Given the description of an element on the screen output the (x, y) to click on. 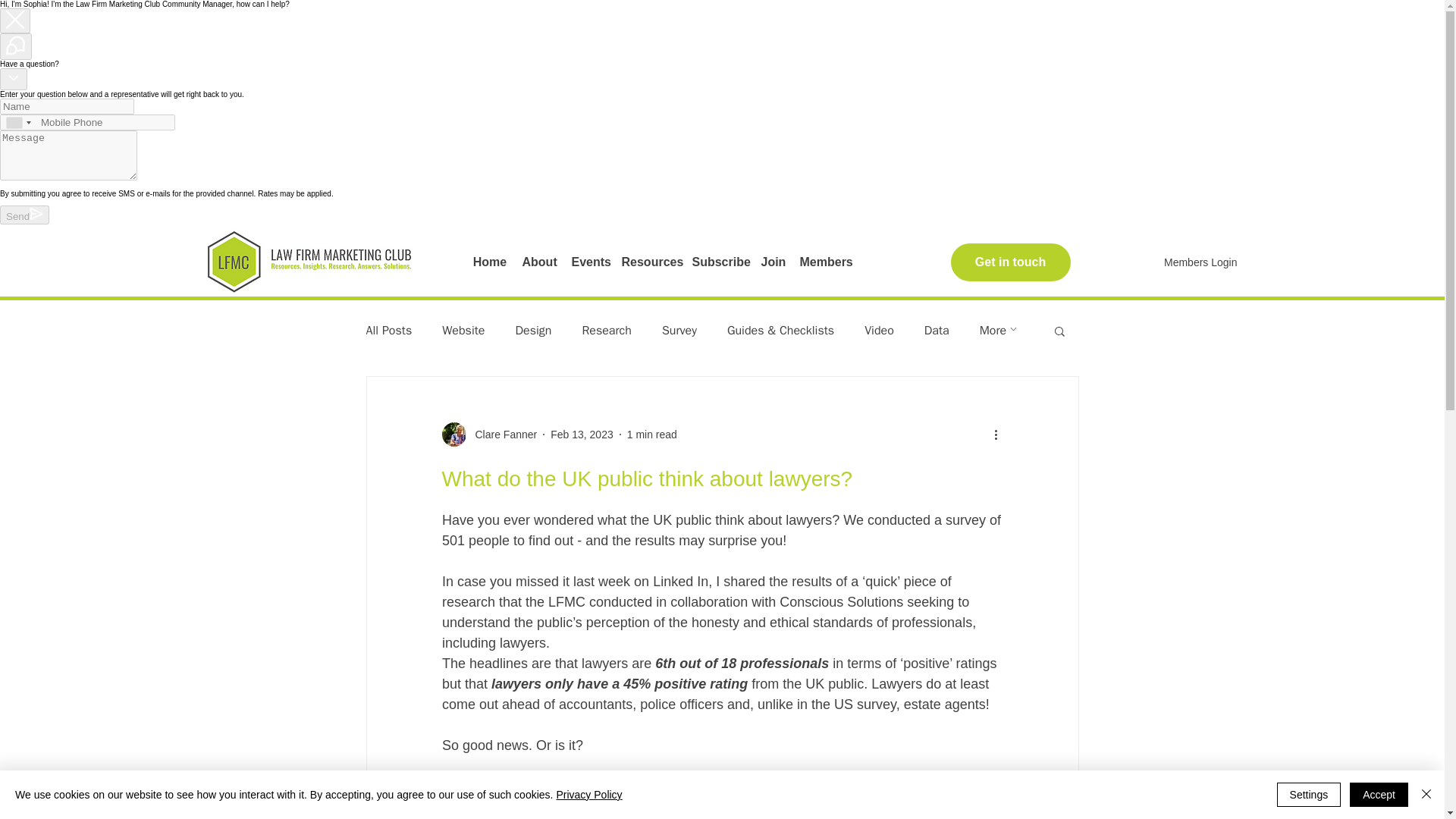
Events (589, 262)
Clare Fanner (489, 434)
Subscribe (718, 262)
Home (490, 262)
Clare Fanner (501, 433)
Data (936, 330)
Get in touch (1010, 262)
Resources (649, 262)
Members Login (1200, 262)
Video (878, 330)
Feb 13, 2023 (581, 433)
Members (825, 262)
About (538, 262)
Design (533, 330)
Research (605, 330)
